Given the description of an element on the screen output the (x, y) to click on. 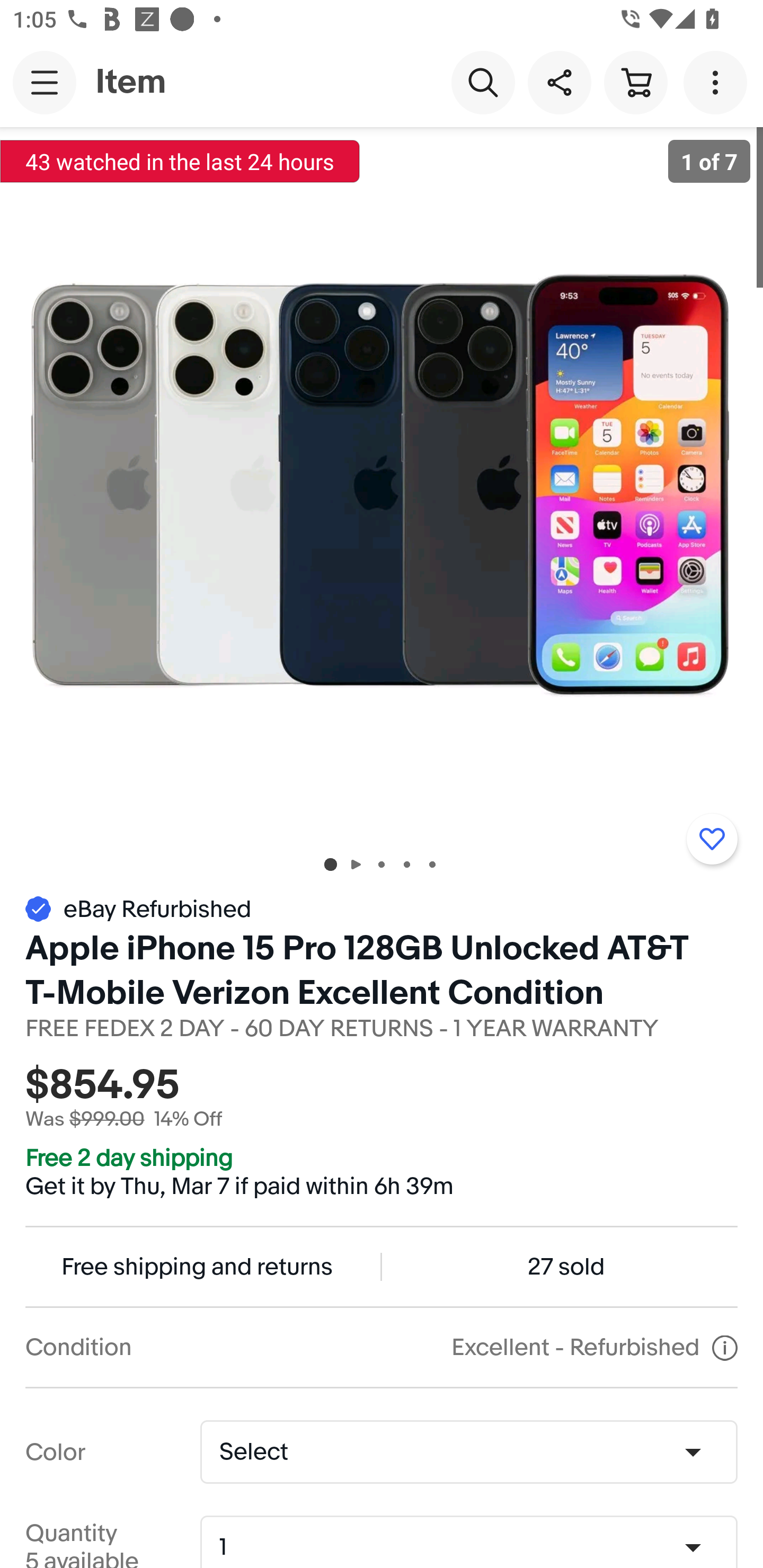
Main navigation, open (44, 82)
Search (482, 81)
Share this item (559, 81)
Cart button shopping cart (635, 81)
More options (718, 81)
Item image 1 of 7 (381, 482)
43 watched in the last 24 hours (180, 161)
Add to watchlist (711, 838)
Color,No selection Select (468, 1451)
Quantity,1,5 available 1 (474, 1547)
